Given the description of an element on the screen output the (x, y) to click on. 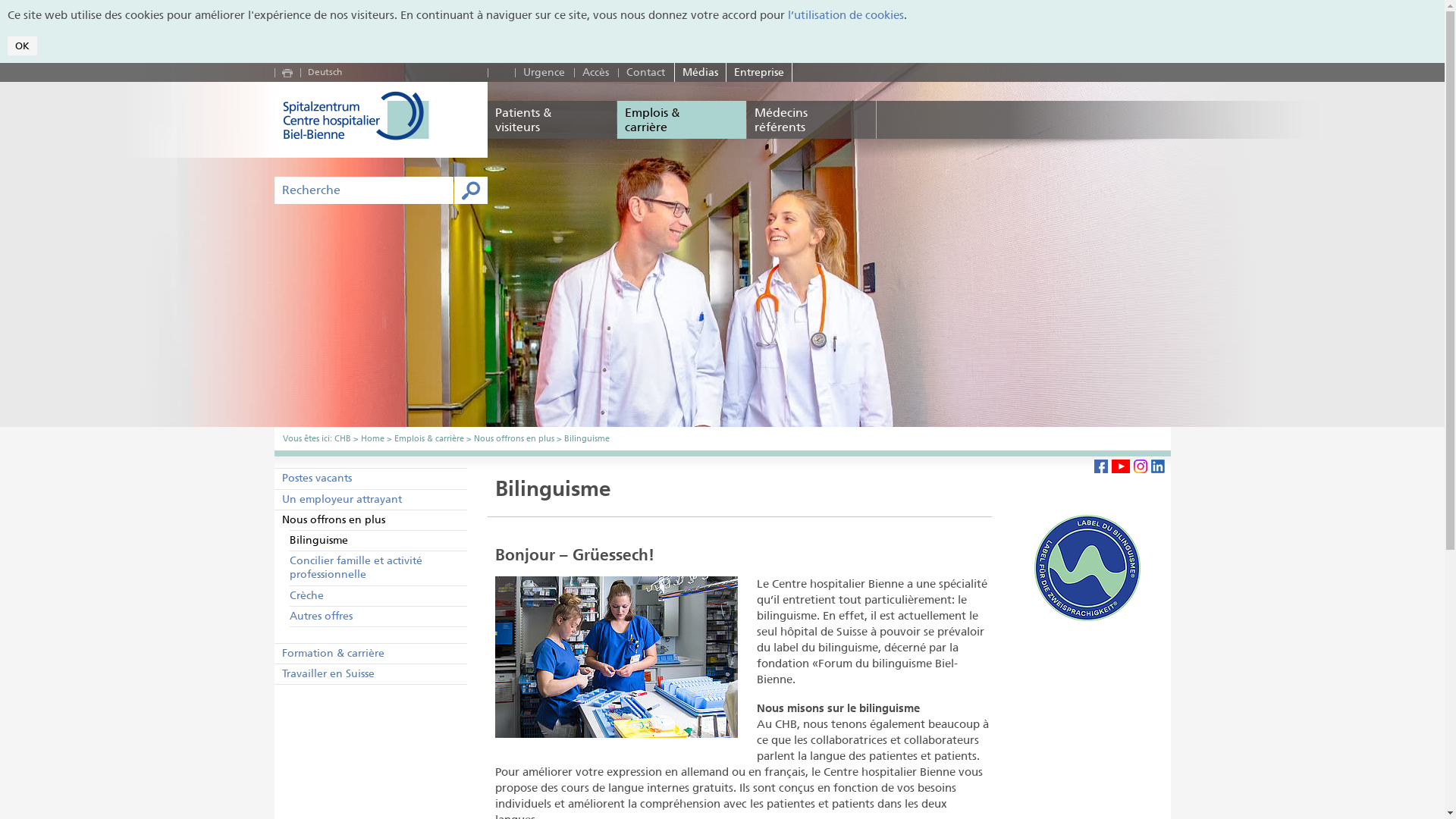
Patients & visiteurs Element type: text (551, 119)
Bilinguisme Element type: text (378, 540)
FDB Marque Vague Bilinguisme min Element type: hover (1087, 567)
Deutsch Element type: text (324, 71)
Travailler en Suisse Element type: text (370, 673)
Un employeur attrayant Element type: text (370, 499)
Nous offrons en plus Element type: text (513, 438)
Contact Element type: text (645, 72)
Autres offres Element type: text (378, 615)
Home Element type: text (372, 438)
Nous offrons en plus Element type: text (370, 519)
Postes vacants Element type: text (370, 477)
OK Element type: text (22, 45)
Bilinguisme Element type: text (586, 438)
Entreprise Element type: text (758, 72)
Urgence Element type: text (543, 72)
